Given the description of an element on the screen output the (x, y) to click on. 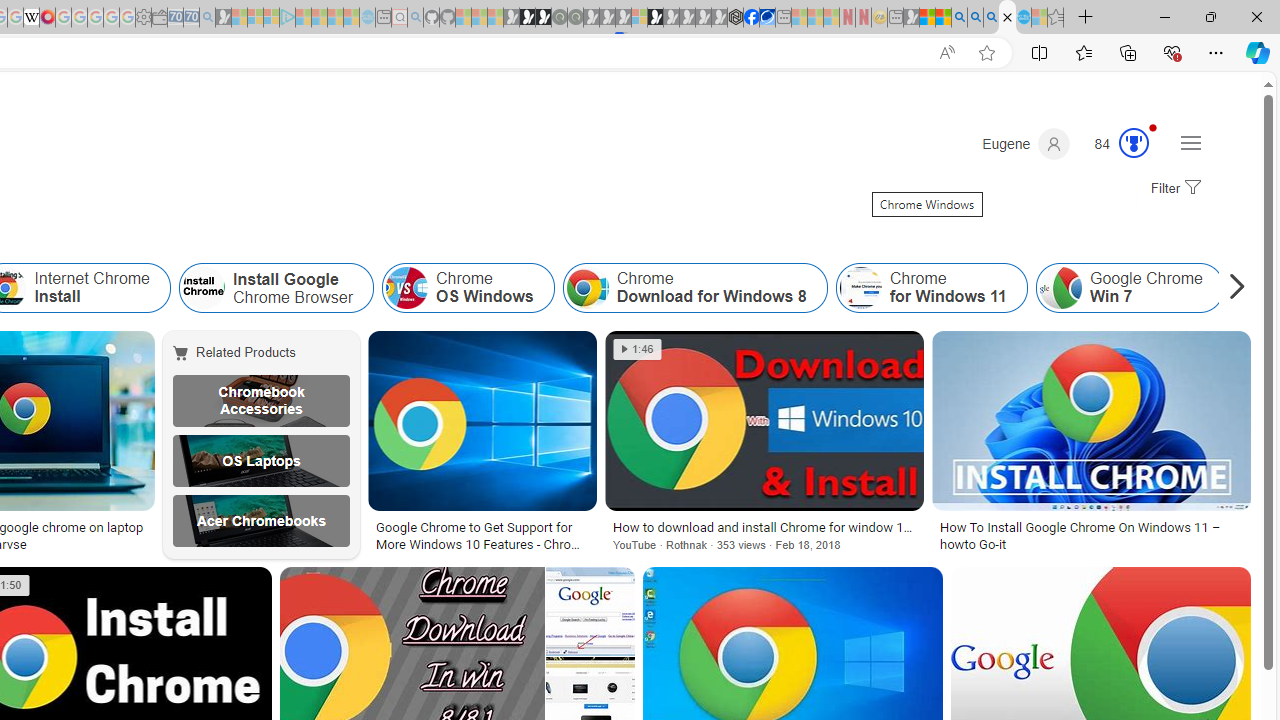
OS Laptops (260, 460)
Google Chrome Win 7 (1060, 287)
Sign in to your account - Sleeping (639, 17)
AutomationID: serp_medal_svg (1133, 142)
Chrome OS Windows (468, 287)
MSN - Sleeping (911, 17)
Chrome Windows - Search Images (1007, 17)
AirNow.gov (767, 17)
Microsoft Rewards 84 (1115, 143)
Acer Chromebooks (260, 521)
